Given the description of an element on the screen output the (x, y) to click on. 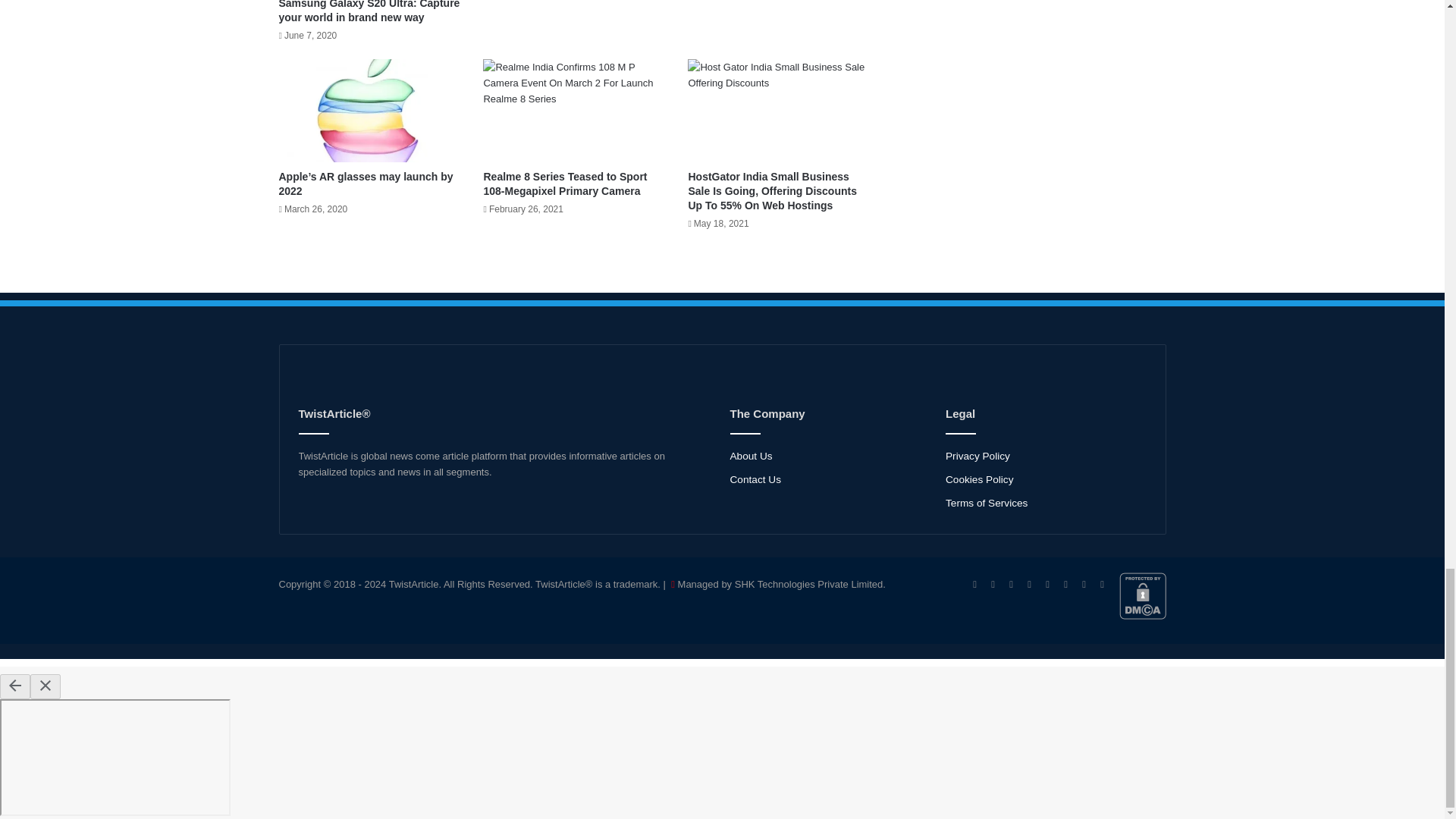
DMCA.com Protection Status (1142, 615)
